Given the description of an element on the screen output the (x, y) to click on. 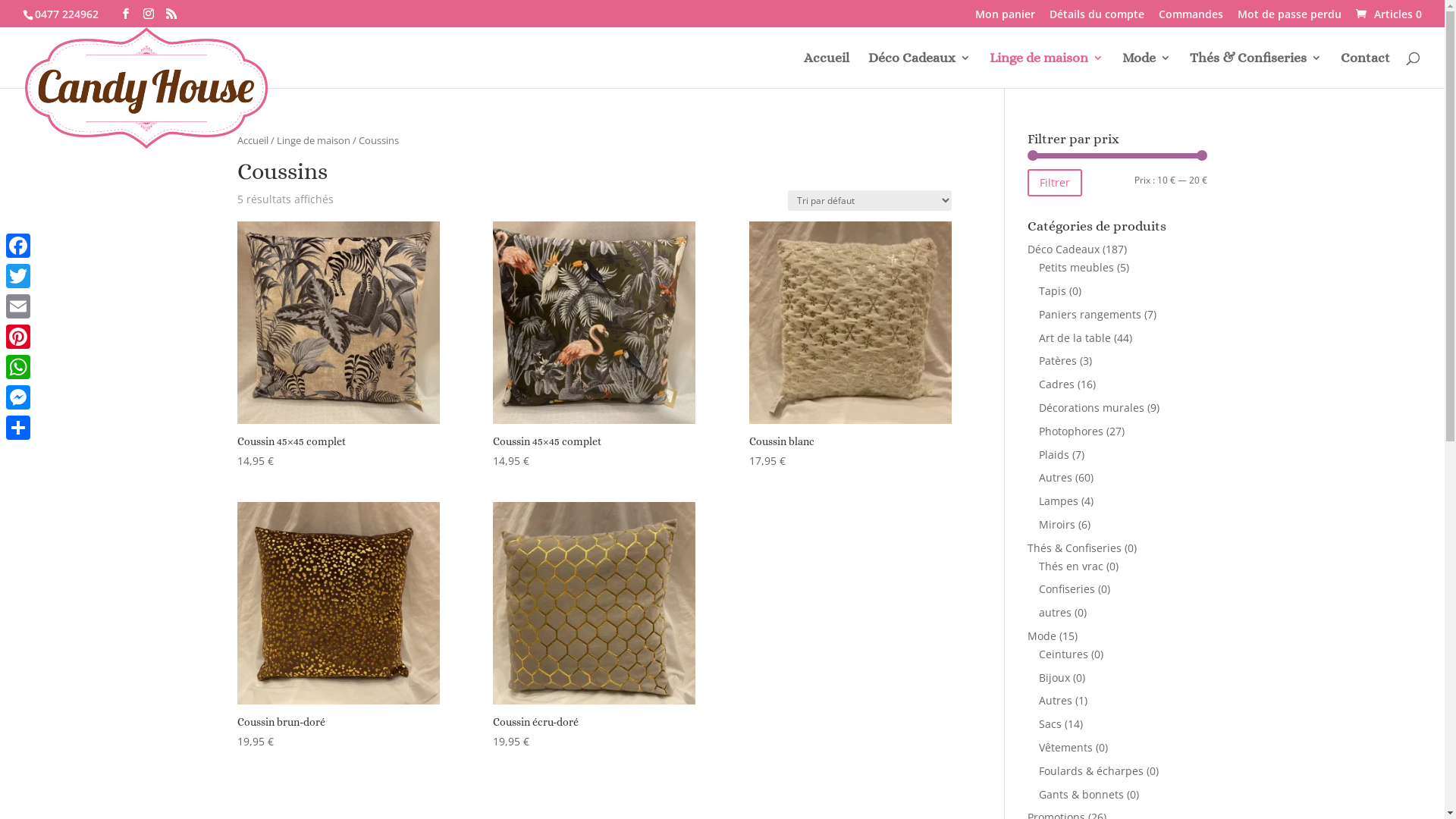
Accueil Element type: text (251, 140)
Autres Element type: text (1055, 477)
Email Element type: text (18, 306)
Pinterest Element type: text (18, 336)
Facebook Element type: text (18, 245)
Messenger Element type: text (18, 397)
Photophores Element type: text (1070, 430)
Cadres Element type: text (1056, 383)
Share Element type: text (18, 427)
autres Element type: text (1054, 612)
Tapis Element type: text (1052, 290)
Filtrer Element type: text (1054, 182)
Linge de maison Element type: text (1046, 69)
Lampes Element type: text (1058, 500)
Mode Element type: text (1146, 69)
Articles 0 Element type: text (1386, 13)
WhatsApp Element type: text (18, 366)
Twitter Element type: text (18, 275)
Gants & bonnets Element type: text (1080, 794)
Confiseries Element type: text (1066, 588)
Mode Element type: text (1041, 635)
Commandes Element type: text (1190, 18)
Contact Element type: text (1365, 69)
Ceintures Element type: text (1063, 653)
Autres Element type: text (1055, 700)
Paniers rangements Element type: text (1089, 314)
Mon panier Element type: text (1005, 18)
Mot de passe perdu Element type: text (1289, 18)
Accueil Element type: text (826, 69)
Sacs Element type: text (1049, 723)
Petits meubles Element type: text (1075, 267)
Miroirs Element type: text (1056, 524)
Bijoux Element type: text (1054, 677)
Plaids Element type: text (1053, 454)
Art de la table Element type: text (1074, 337)
Linge de maison Element type: text (312, 140)
